Given the description of an element on the screen output the (x, y) to click on. 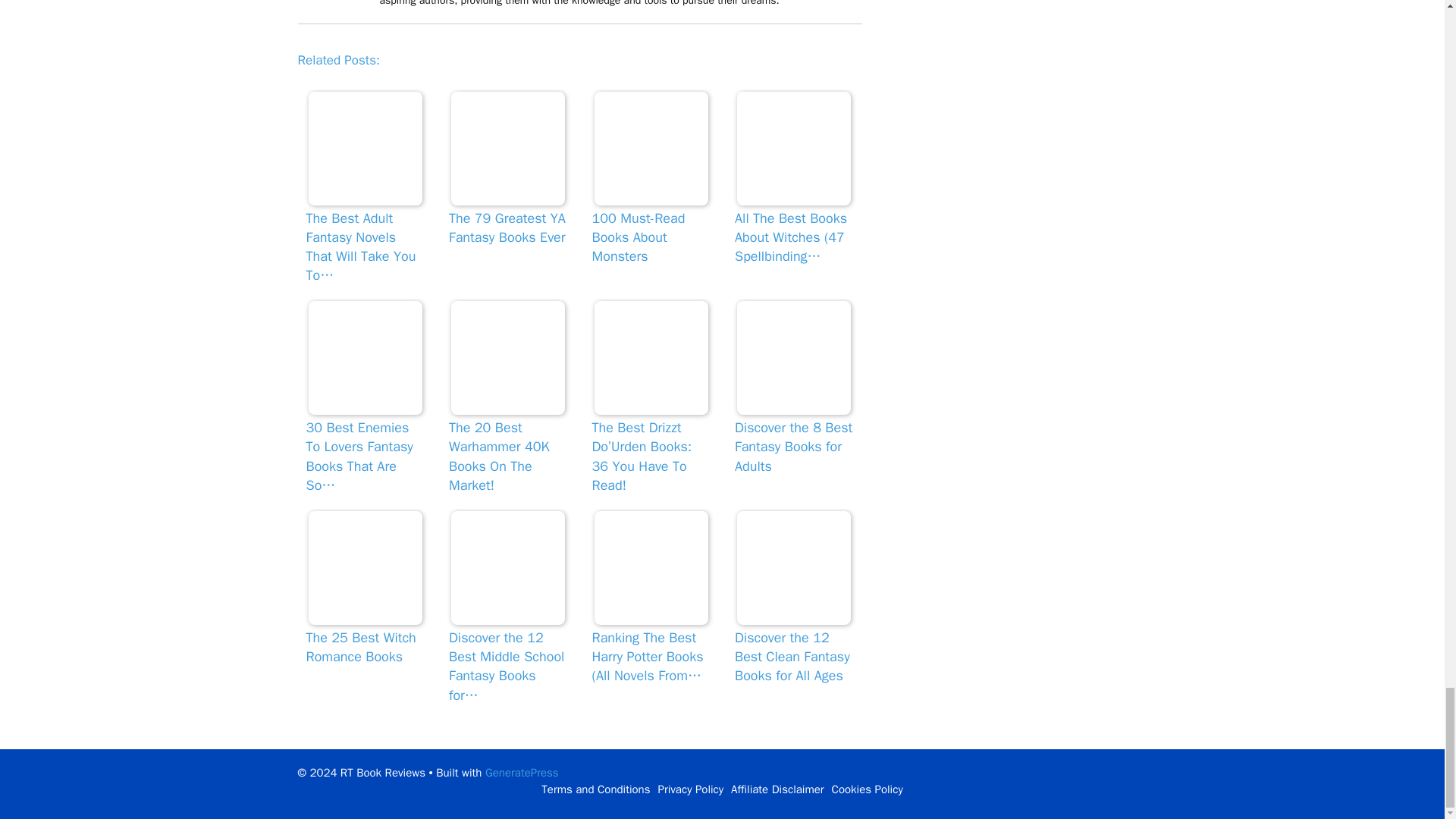
The 20 Best Warhammer 40K Books On The Market! (507, 357)
The 79 Greatest YA Fantasy Books Ever (507, 148)
100 Must-Read Books About Monsters (650, 148)
